Given the description of an element on the screen output the (x, y) to click on. 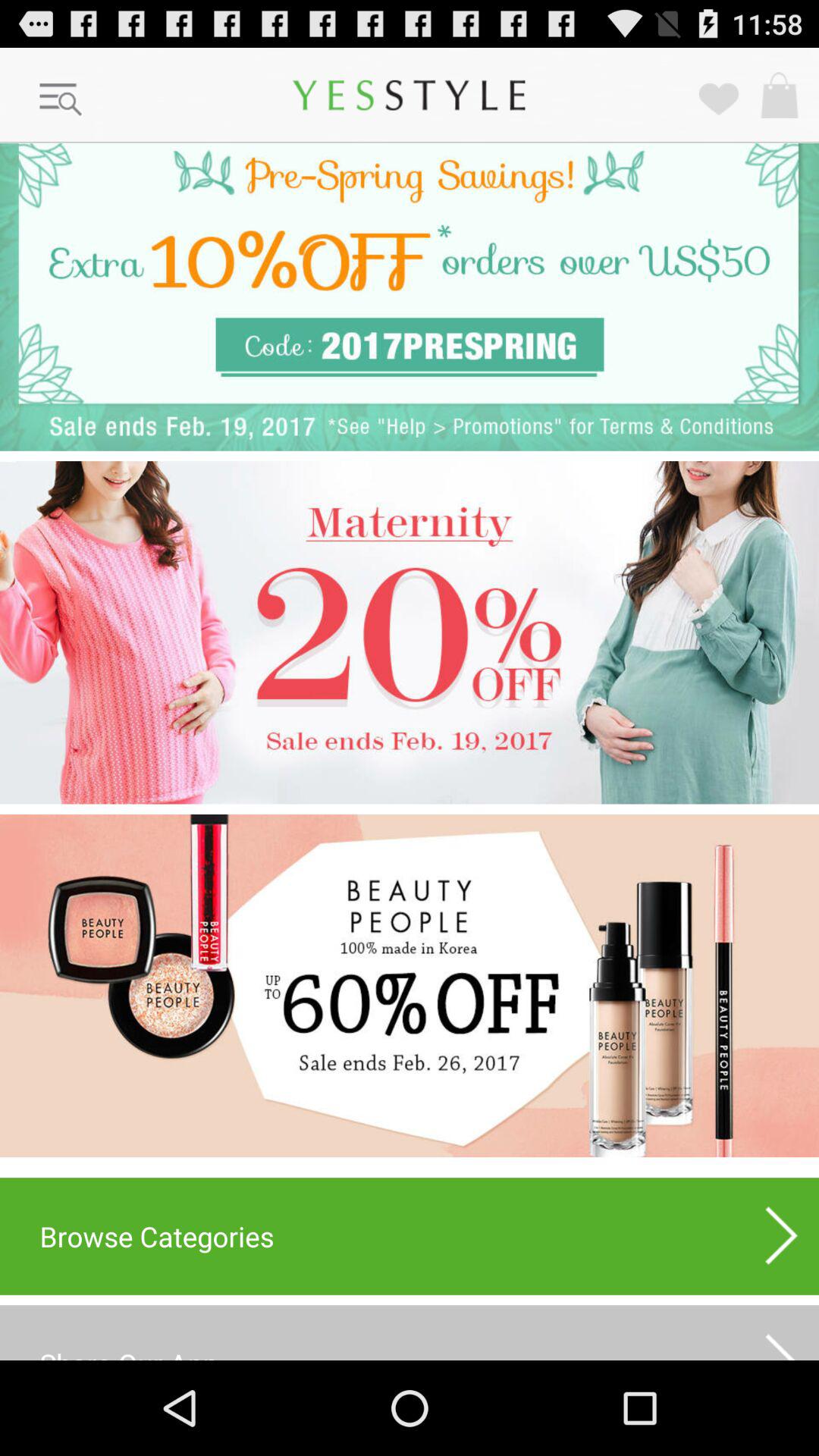
open website (409, 985)
